Given the description of an element on the screen output the (x, y) to click on. 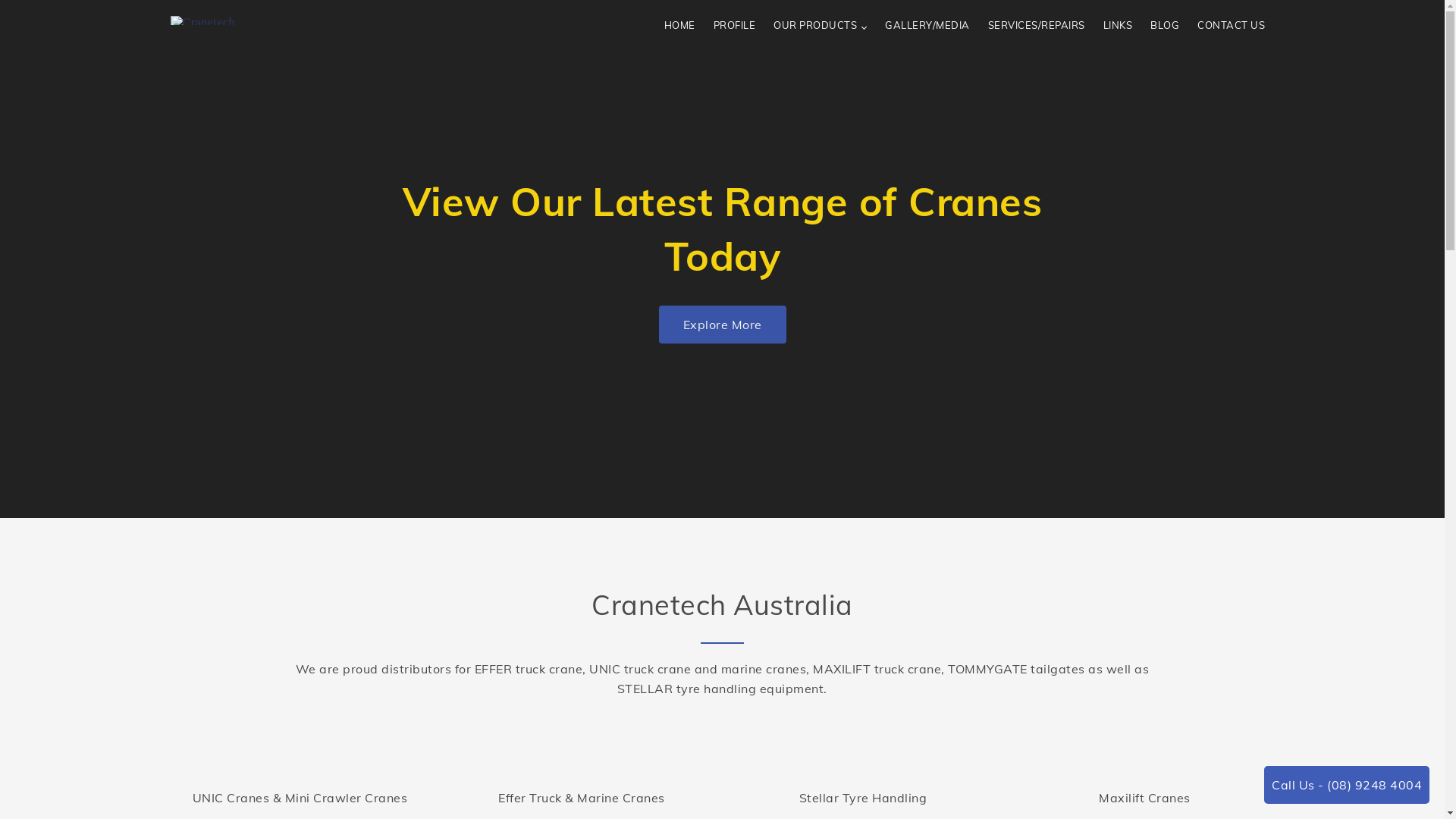
BLOG Element type: text (1164, 25)
Stellar Tyre Handling Element type: text (863, 797)
SERVICES/REPAIRS Element type: text (1036, 25)
LINKS Element type: text (1118, 25)
HOME Element type: text (679, 25)
Call Us - (08) 9248 4004 Element type: text (1346, 784)
PROFILE Element type: text (734, 25)
OUR PRODUCTS Element type: text (819, 25)
UNIC Cranes & Mini Crawler Cranes Element type: text (299, 797)
Explore More Element type: text (721, 324)
Maxilift Cranes Element type: text (1144, 797)
Effer Truck & Marine Cranes Element type: text (581, 797)
GALLERY/MEDIA Element type: text (927, 25)
CONTACT US Element type: text (1231, 25)
